Given the description of an element on the screen output the (x, y) to click on. 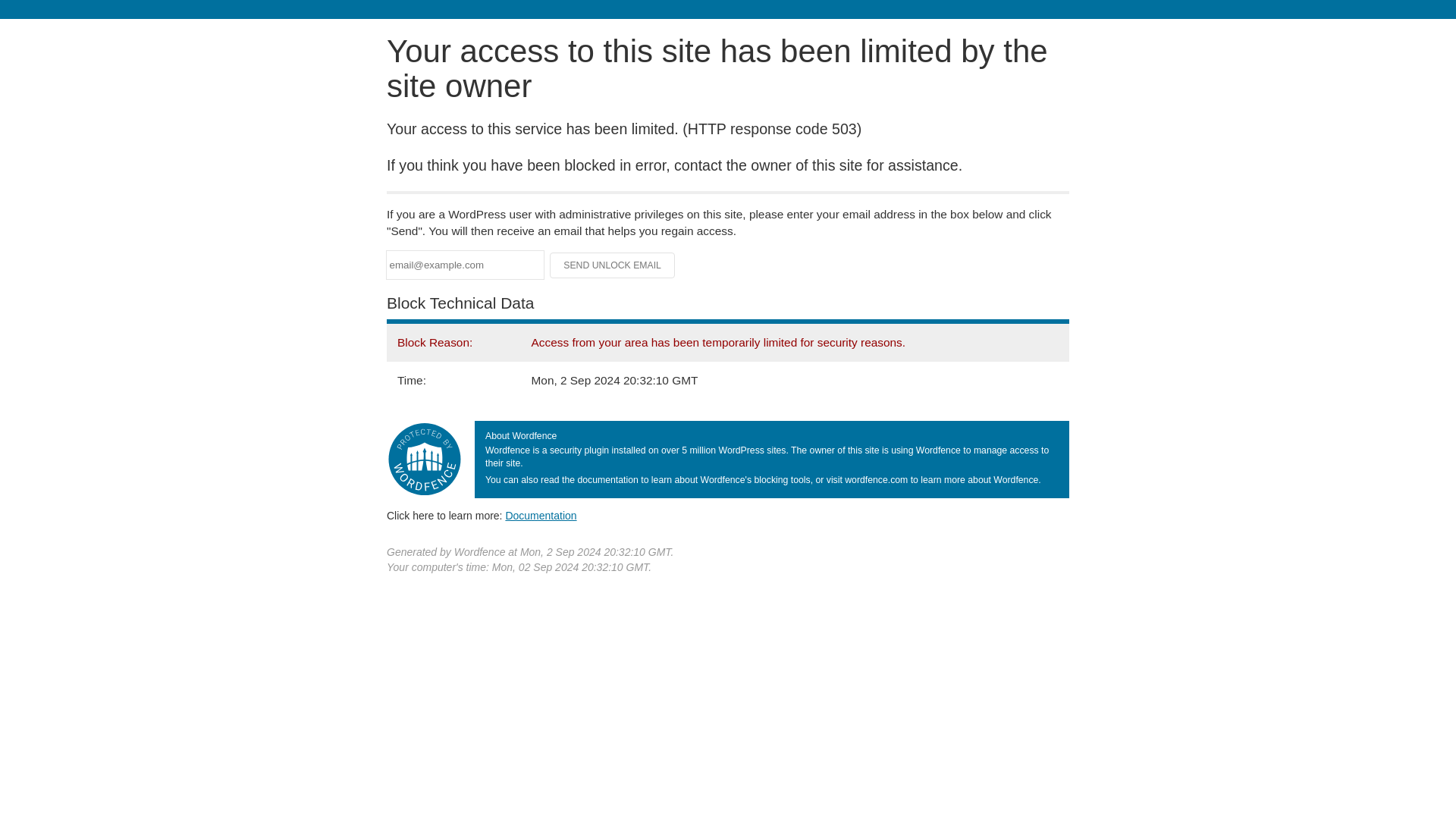
Send Unlock Email (612, 265)
Documentation (540, 515)
Send Unlock Email (612, 265)
